Given the description of an element on the screen output the (x, y) to click on. 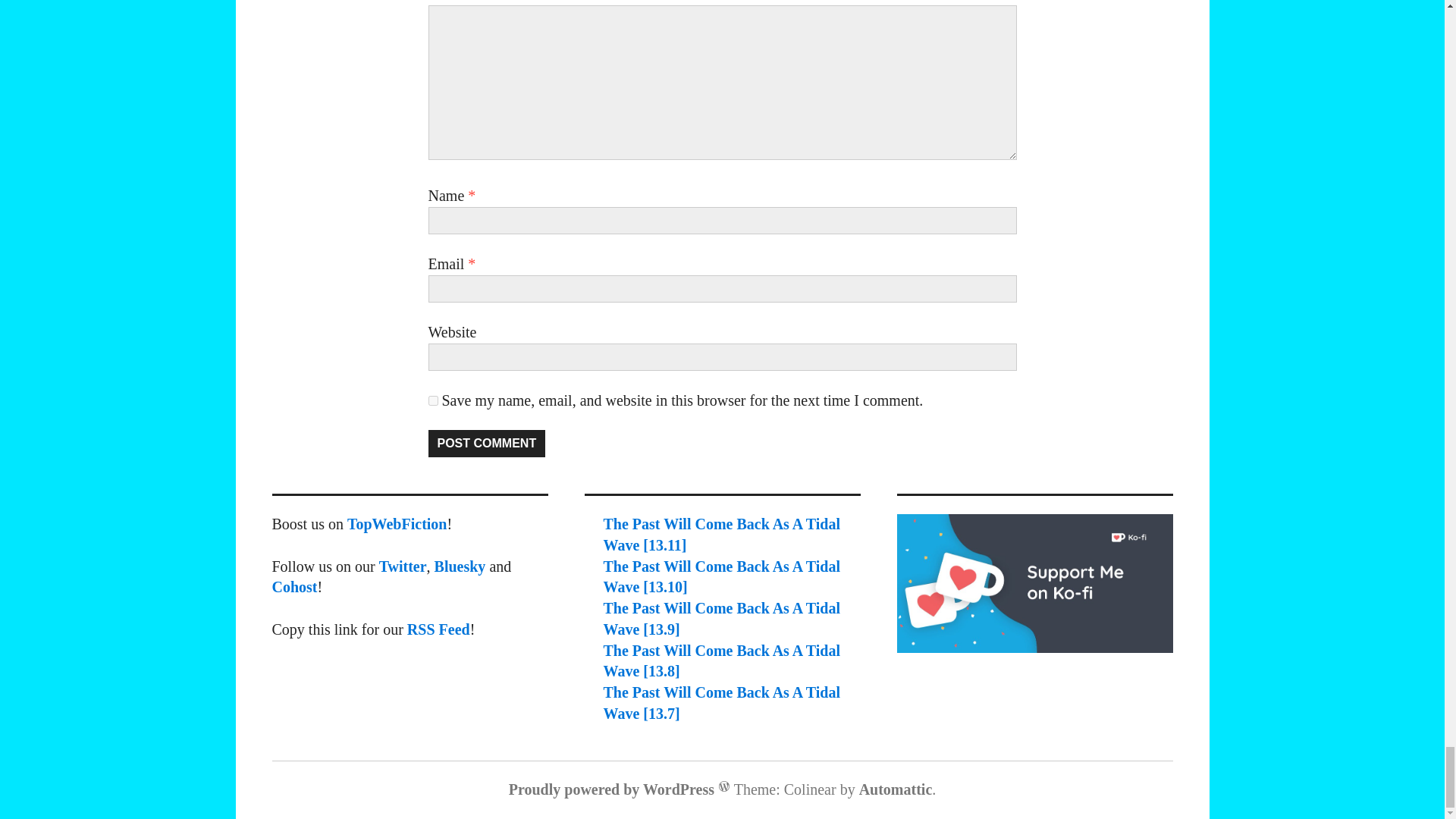
yes (433, 400)
Twitter (402, 565)
TopWebFiction (396, 523)
RSS Feed (438, 629)
Bluesky (459, 565)
Cohost (293, 586)
Post Comment (486, 443)
Post Comment (486, 443)
